Given the description of an element on the screen output the (x, y) to click on. 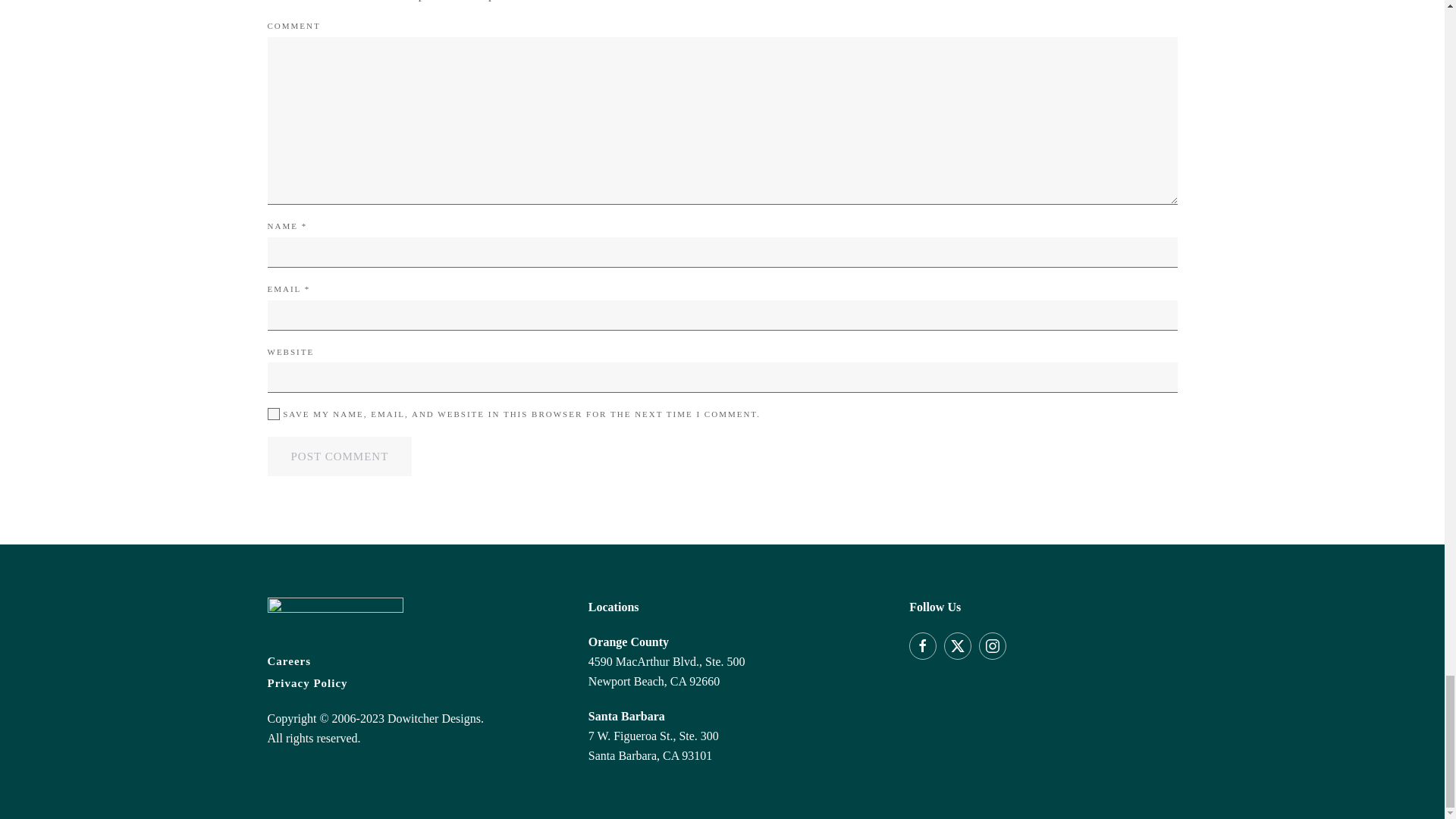
POST COMMENT (339, 455)
Careers (400, 660)
yes (272, 413)
Privacy Policy (400, 682)
